Given the description of an element on the screen output the (x, y) to click on. 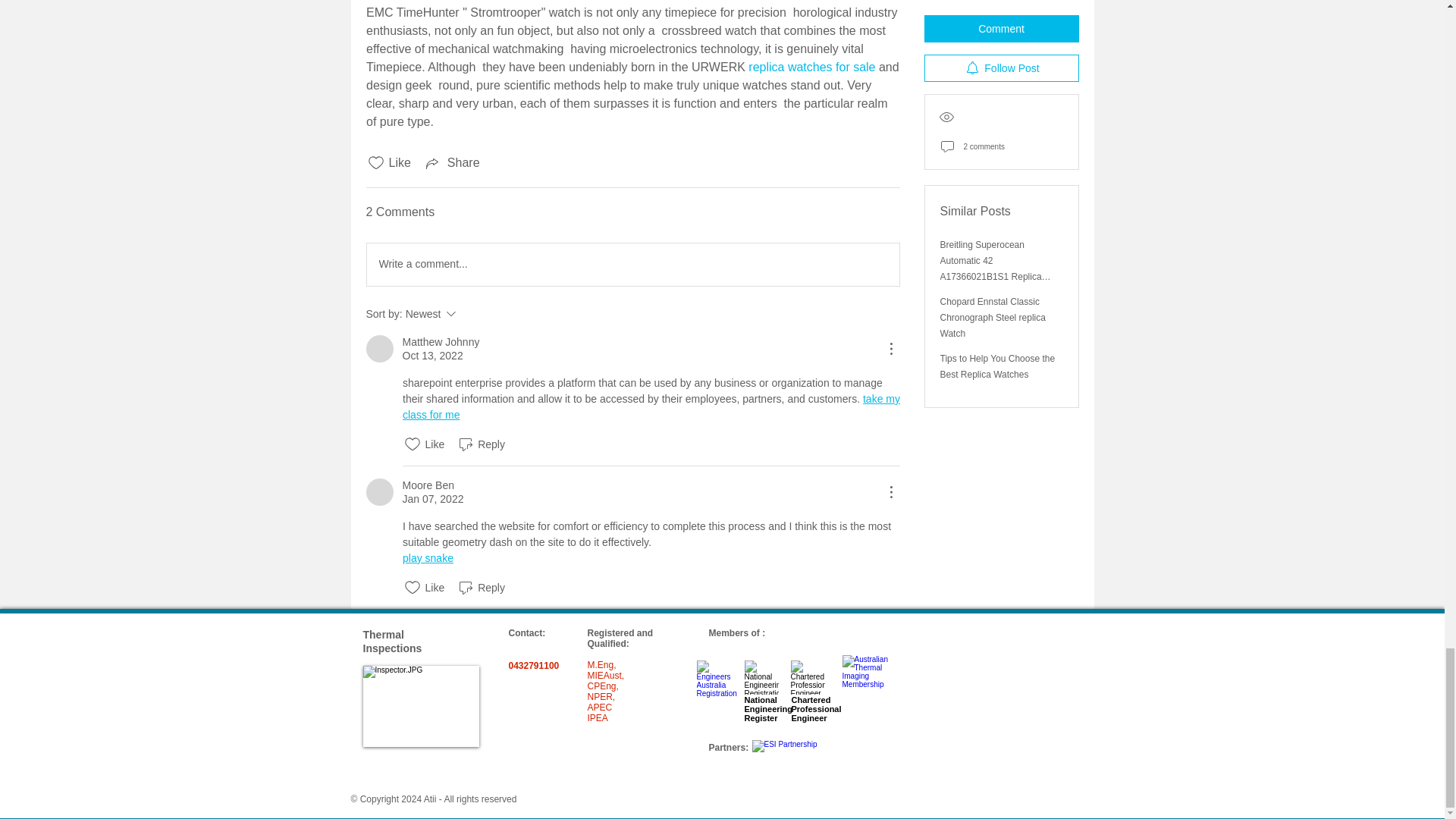
Matthew Johnny (440, 341)
Matthew Johnny (379, 348)
Moore Ben (426, 485)
Share (451, 162)
Write a comment... (632, 264)
play snake (426, 558)
Moore Ben (471, 313)
Reply (379, 492)
image.png (481, 587)
